Given the description of an element on the screen output the (x, y) to click on. 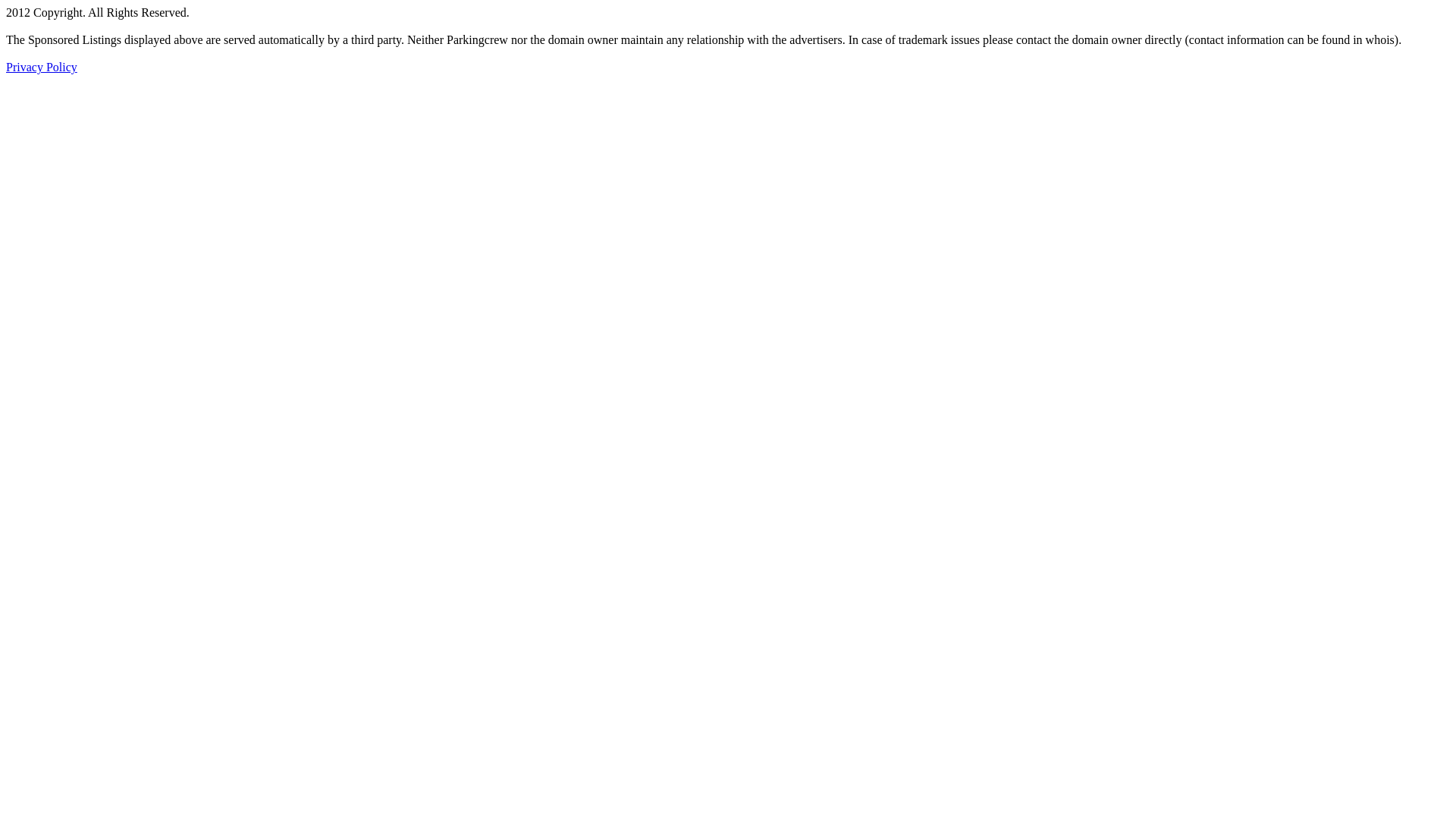
Privacy Policy Element type: text (41, 66)
